Given the description of an element on the screen output the (x, y) to click on. 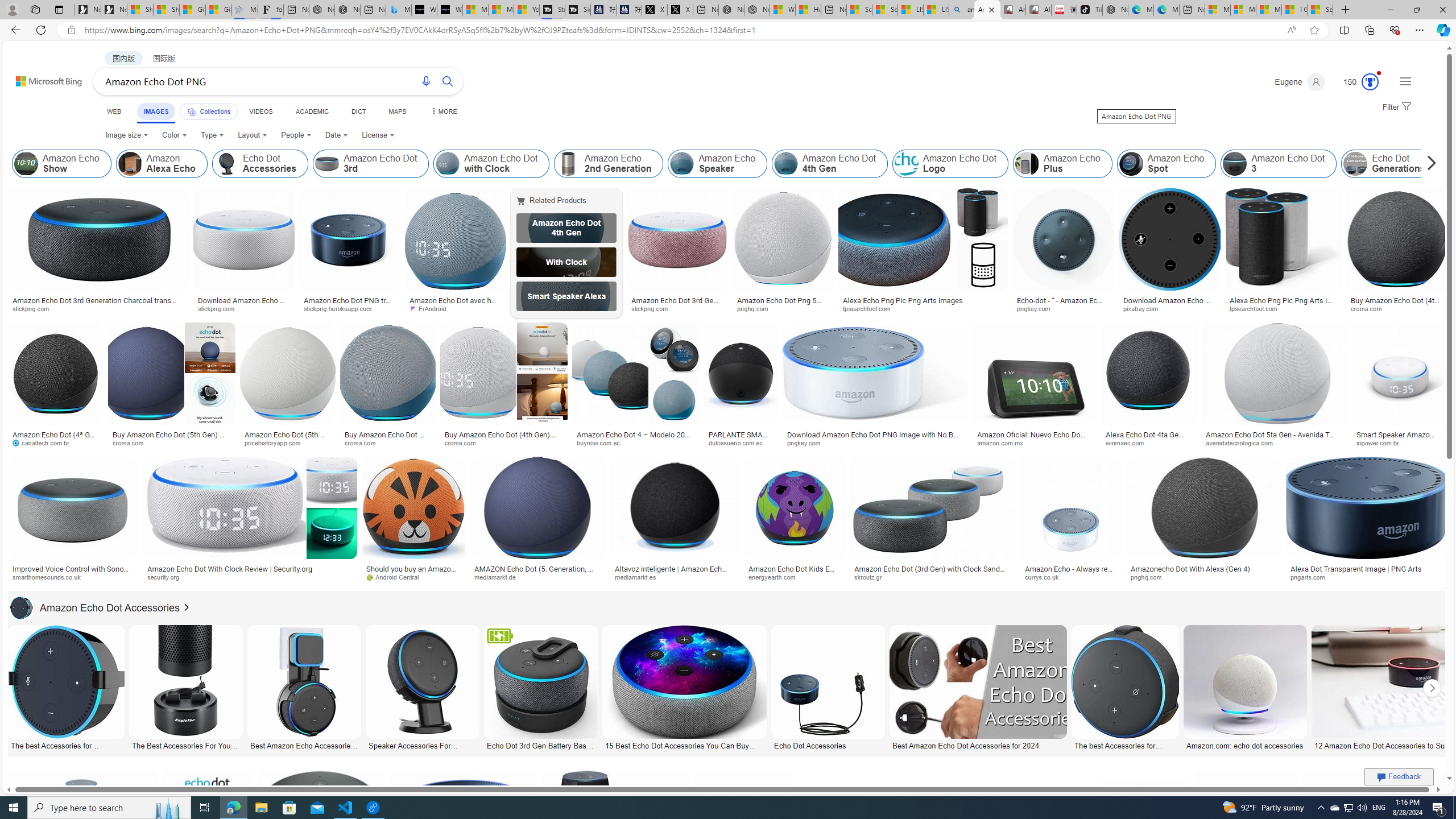
Layout (252, 135)
Class: outer-circle-animation (1369, 81)
Amazonecho Dot With Alexa (Gen 4)pnghq.comSave (1205, 521)
15 Best Echo Dot Accessories You Can Buy (2020) | Beebom (683, 744)
Alexa Echo Png Pic Png Arts Imagestpsearchtool.comSave (924, 252)
Amazon Echo Dot PNG - Search Images (986, 9)
Amazon Echo Dot Accessories (95, 607)
IMAGES (156, 112)
